Given the description of an element on the screen output the (x, y) to click on. 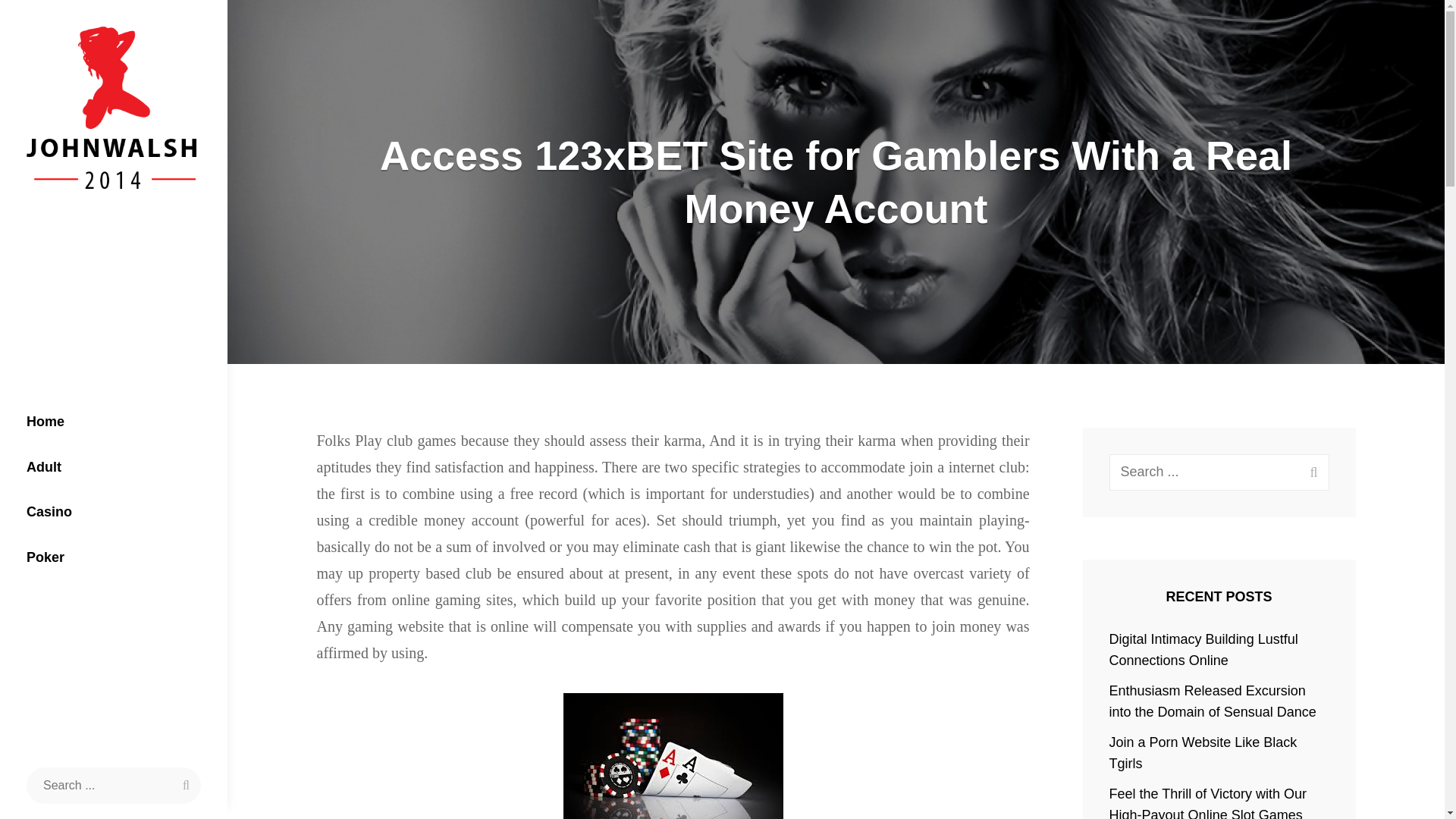
Join a Porn Website Like Black Tgirls (1203, 752)
JOHNWALSH2014 (130, 216)
Search for: (113, 785)
Home (113, 422)
Poker (113, 557)
Search for: (1219, 471)
Casino (113, 512)
Adult (113, 467)
Digital Intimacy Building Lustful Connections Online (1203, 649)
